Given the description of an element on the screen output the (x, y) to click on. 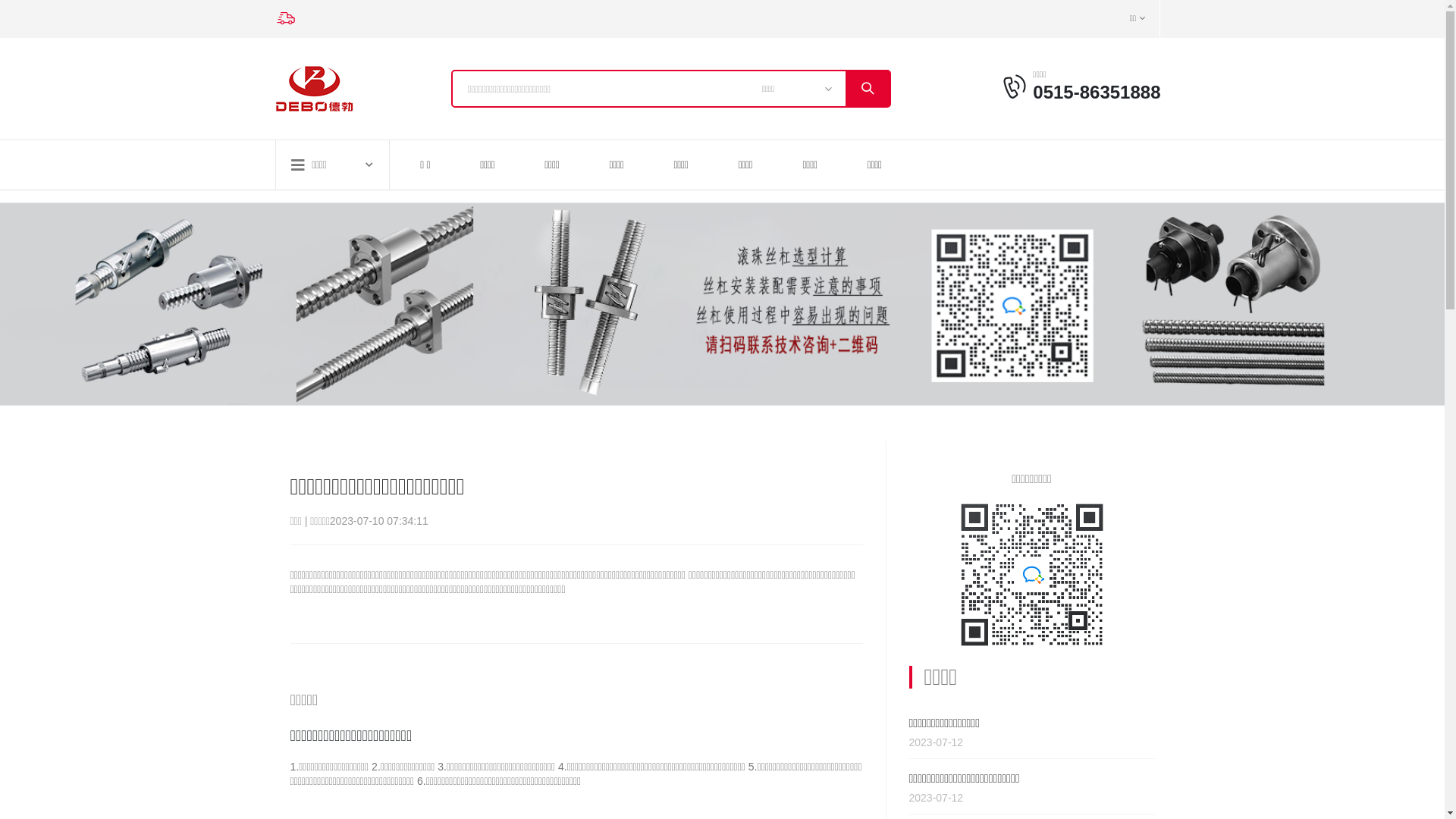
login Element type: hover (1016, 86)
search Element type: hover (867, 88)
